Given the description of an element on the screen output the (x, y) to click on. 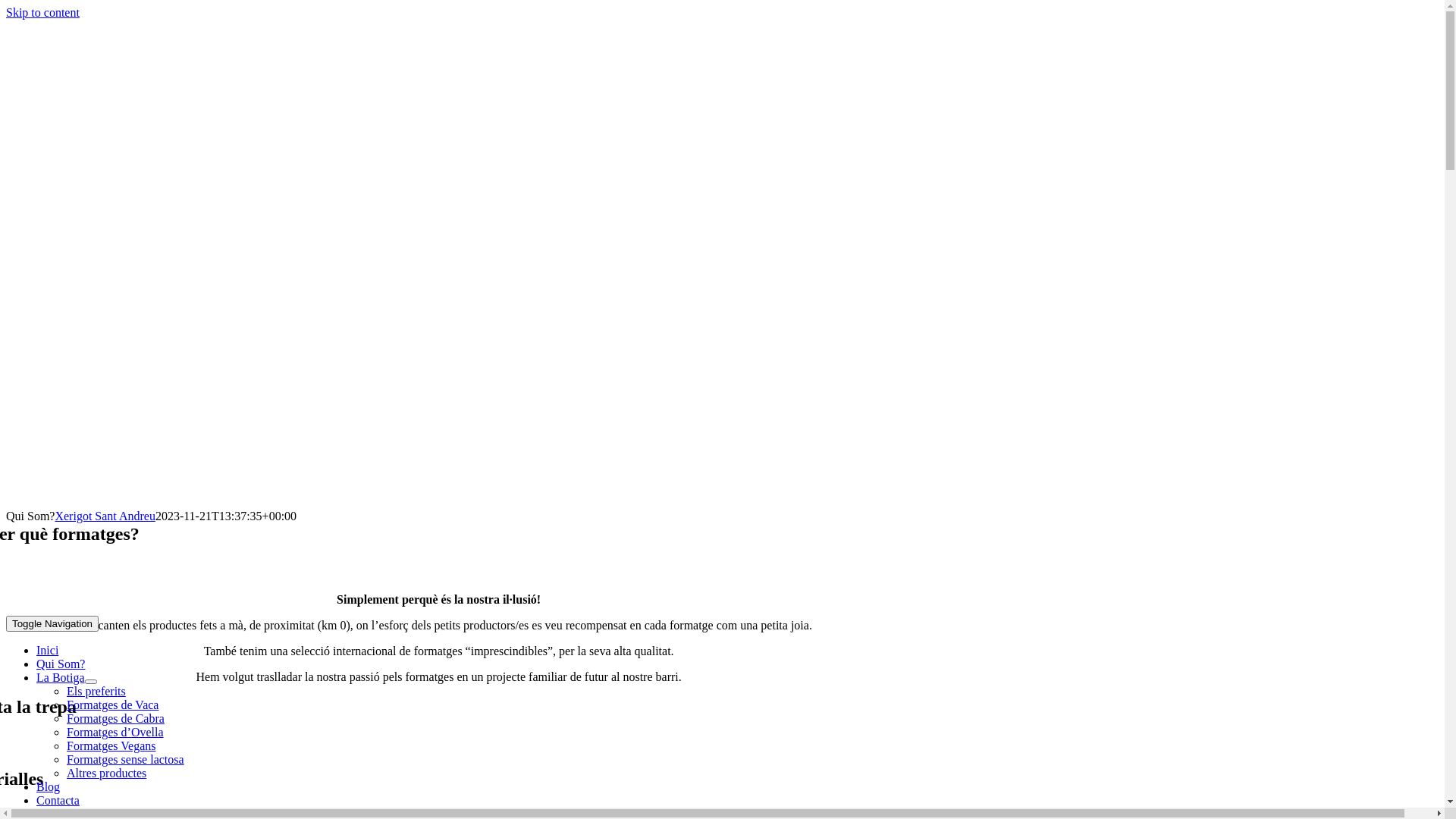
Contacta Element type: text (57, 799)
Formatges Vegans Element type: text (110, 745)
Xerigot Sant Andreu Element type: text (104, 515)
Blog Element type: text (47, 786)
Formatges sense lactosa Element type: text (125, 759)
Formatges de Vaca Element type: text (112, 704)
La Botiga Element type: text (60, 677)
Els preferits Element type: text (95, 690)
Formatges de Cabra Element type: text (115, 718)
Altres productes Element type: text (106, 772)
cenefa amarilla Element type: hover (438, 733)
Inici Element type: text (47, 649)
Skip to content Element type: text (42, 12)
Qui Som? Element type: text (60, 663)
Toggle Navigation Element type: text (52, 623)
cenefa amarilla Element type: hover (438, 560)
